Given the description of an element on the screen output the (x, y) to click on. 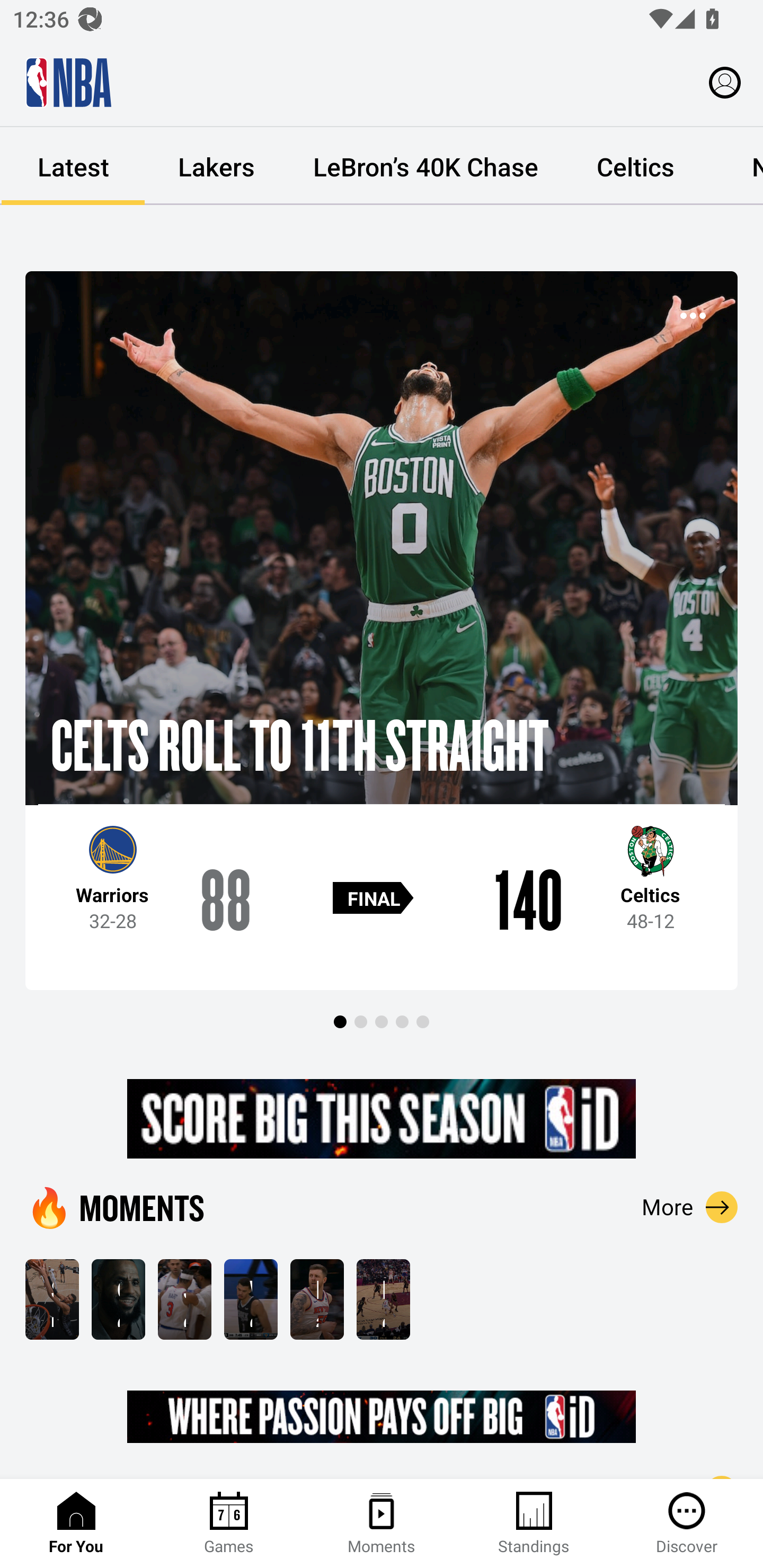
Profile (724, 81)
Lakers (215, 166)
LeBron’s 40K Chase (425, 166)
Celtics (634, 166)
More (689, 1207)
Sunday's Top Plays In 30 Seconds ⏱ (51, 1299)
Hartenstein Drops The Hammer 🔨 (317, 1299)
Games (228, 1523)
Moments (381, 1523)
Standings (533, 1523)
Discover (686, 1523)
